Given the description of an element on the screen output the (x, y) to click on. 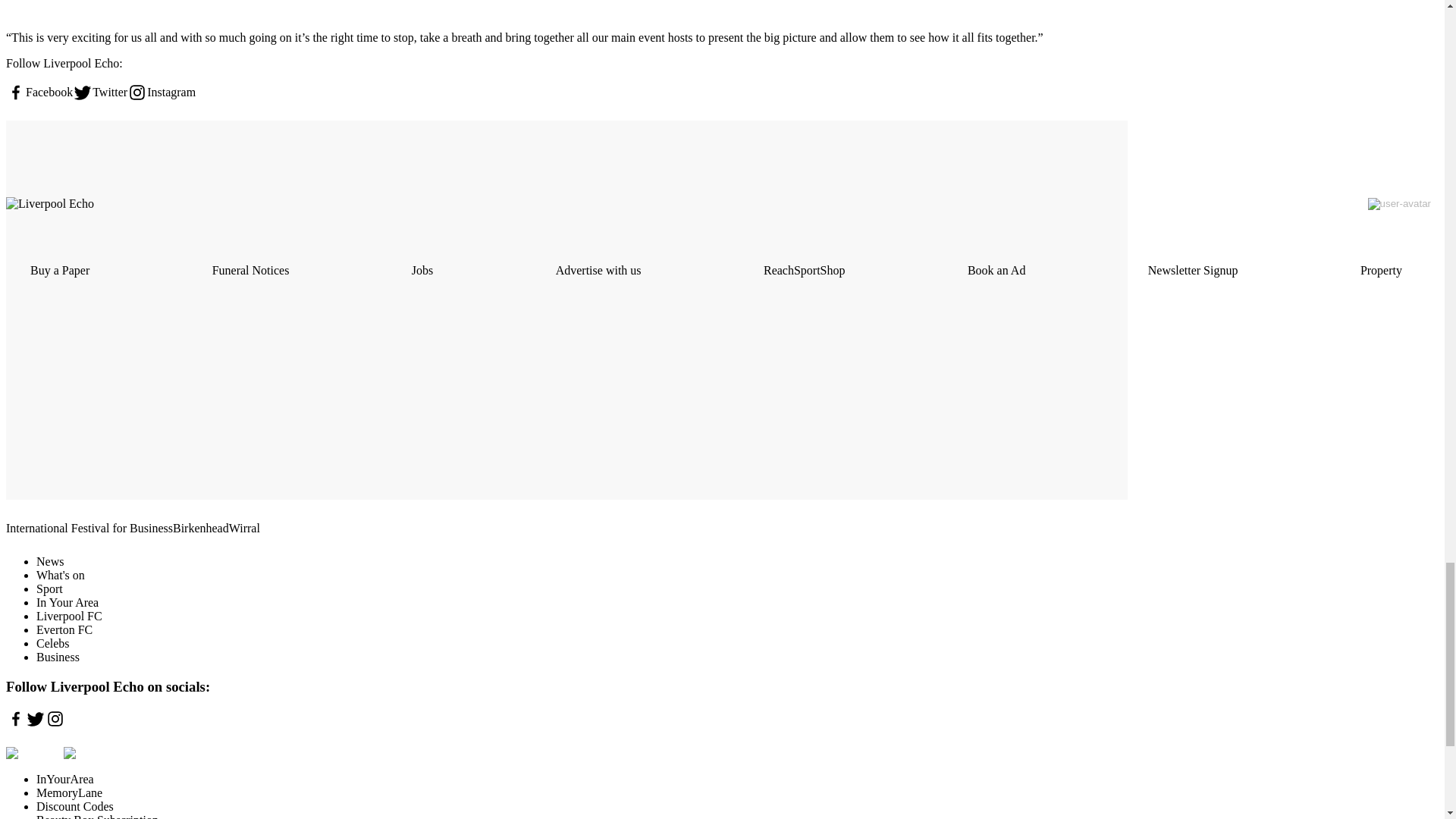
Twitter (100, 92)
Business (58, 656)
What's on (60, 574)
Instagram (161, 92)
In Your Area (67, 602)
Liverpool FC (68, 615)
News (50, 561)
Celebs (52, 643)
Sport (49, 588)
Birkenhead (200, 528)
